Given the description of an element on the screen output the (x, y) to click on. 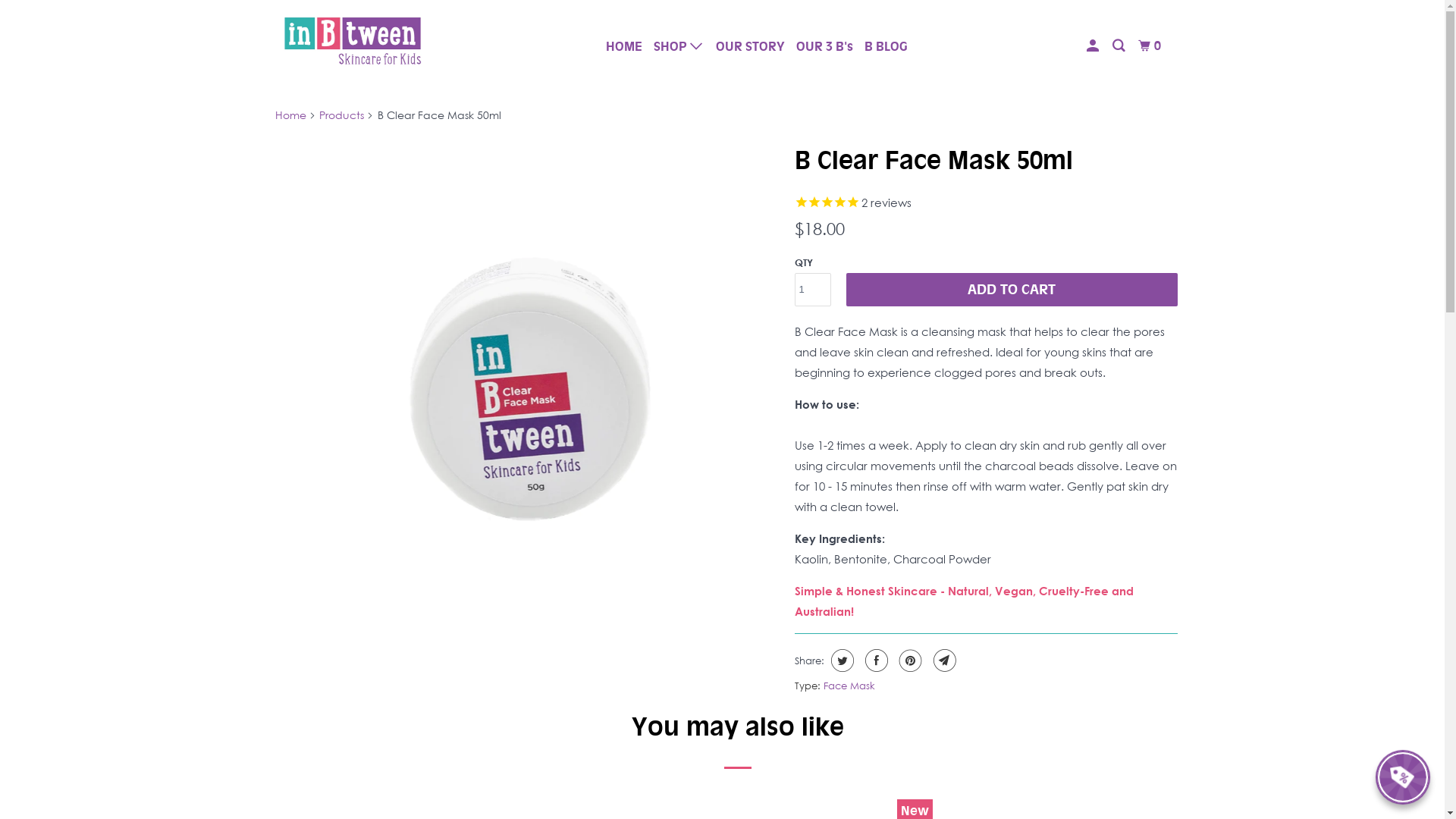
My Account  Element type: hover (1093, 45)
In B Tween Skincare Element type: hover (351, 40)
Share this on Pinterest Element type: hover (907, 660)
B Clear purifying mask for kids, tweens and teens Element type: hover (530, 351)
0 Element type: text (1151, 45)
HOME Element type: text (623, 45)
SHOP Element type: text (678, 45)
Search Element type: hover (1119, 45)
OUR STORY Element type: text (749, 45)
Face Mask Element type: text (849, 685)
B BLOG Element type: text (885, 45)
OUR 3 B's Element type: text (824, 45)
ADD TO CART Element type: text (1011, 289)
Home Element type: text (289, 114)
Email this to a friend Element type: hover (942, 660)
Share this on Facebook Element type: hover (874, 660)
Share this on Twitter Element type: hover (839, 660)
Products Element type: text (341, 114)
